Given the description of an element on the screen output the (x, y) to click on. 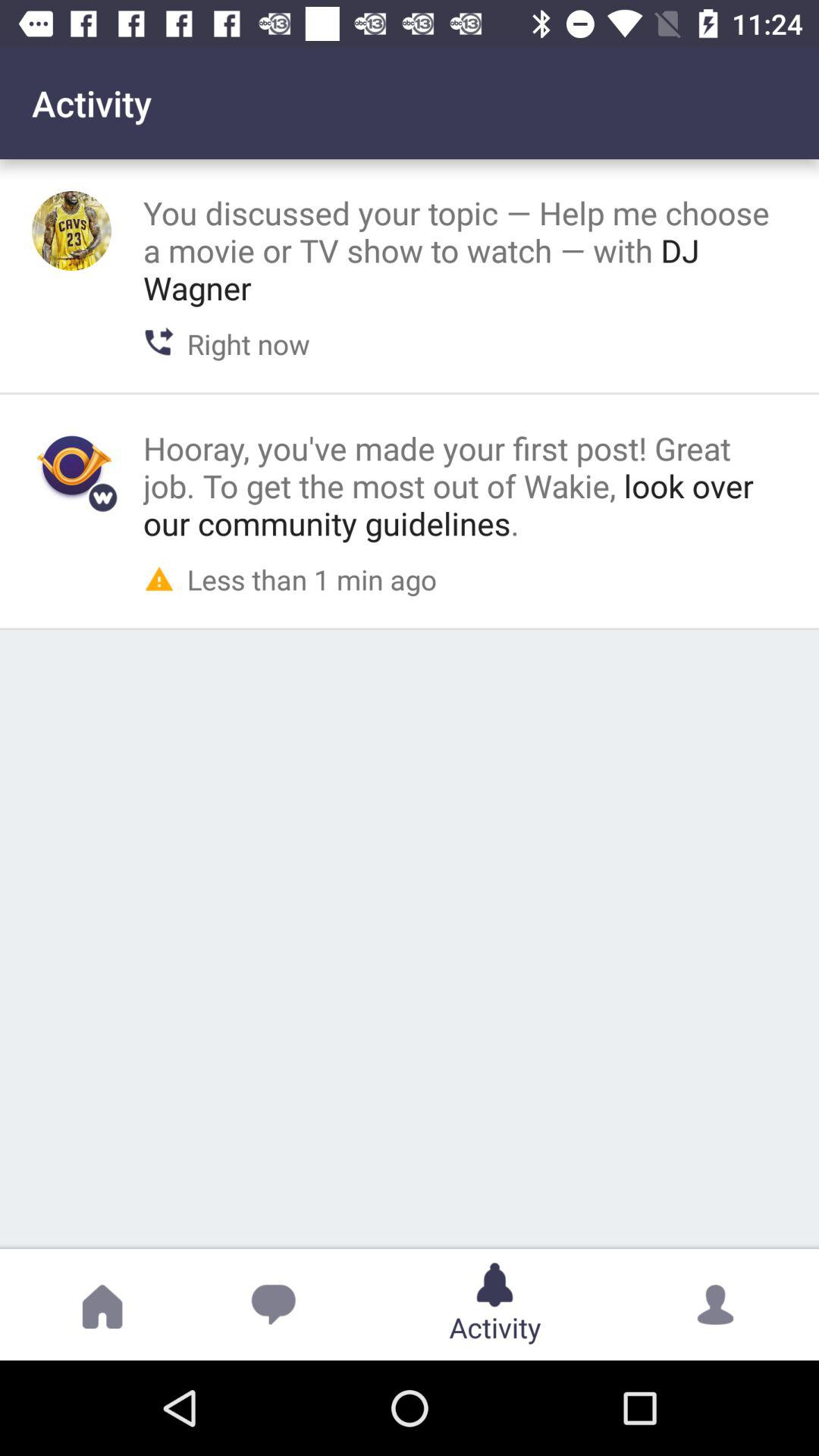
show perfil (71, 230)
